Given the description of an element on the screen output the (x, y) to click on. 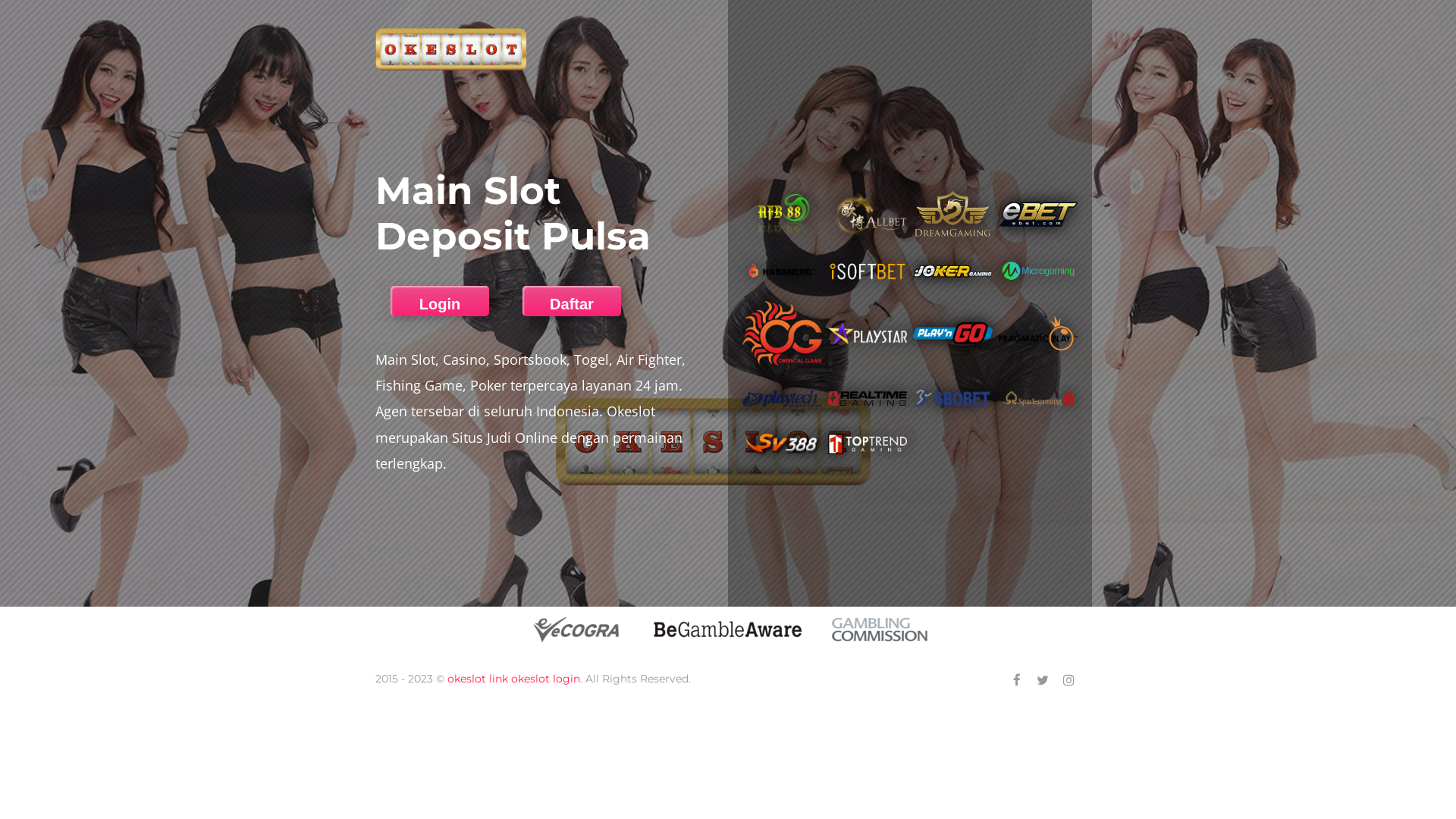
Daftar Element type: text (571, 300)
Login Element type: text (439, 305)
Login Element type: text (439, 300)
okeslot login Element type: text (545, 678)
okeslot link Element type: text (477, 678)
Daftar Element type: text (571, 305)
